Given the description of an element on the screen output the (x, y) to click on. 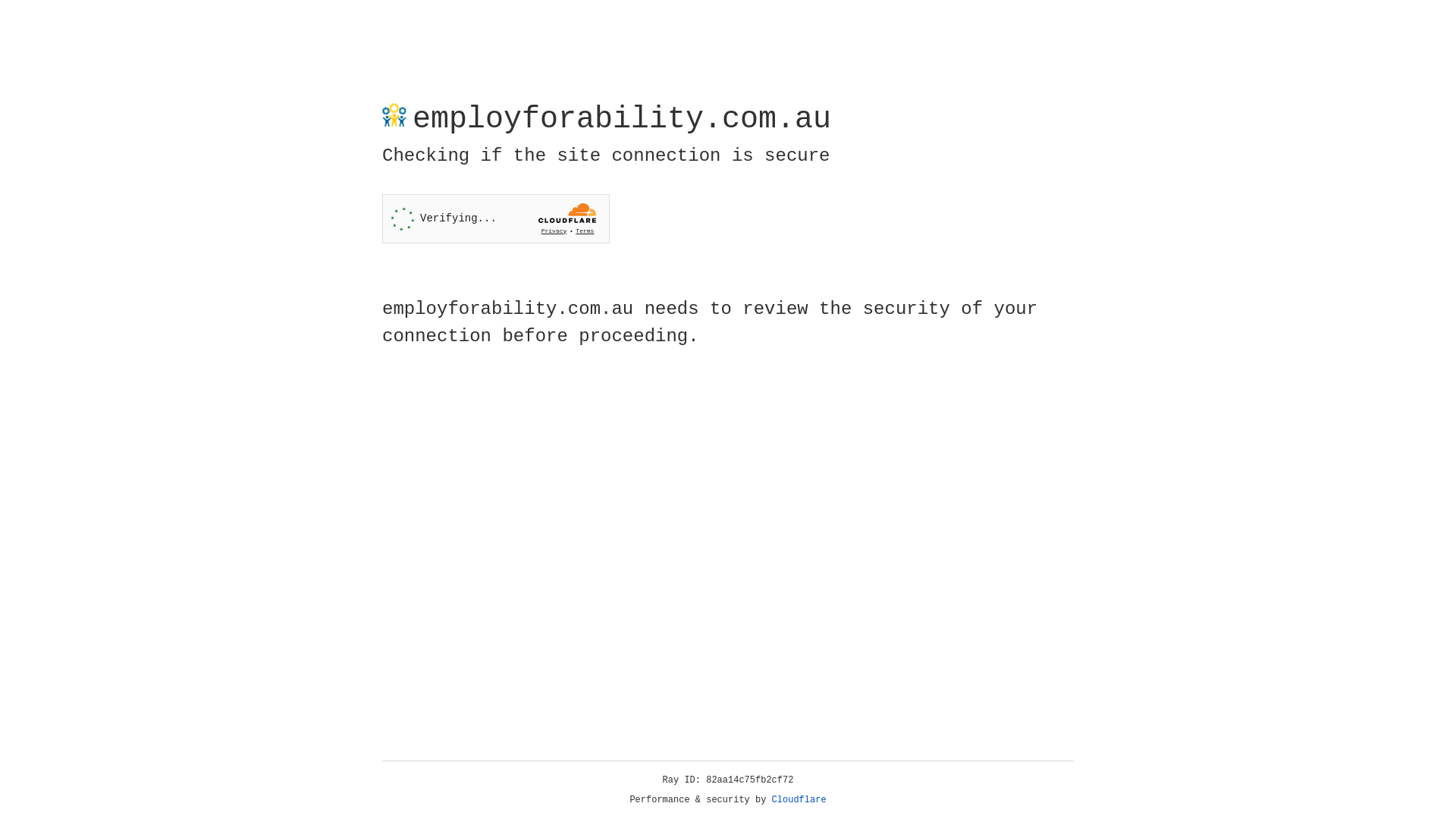
Cloudflare Element type: text (798, 799)
Widget containing a Cloudflare security challenge Element type: hover (495, 218)
